Given the description of an element on the screen output the (x, y) to click on. 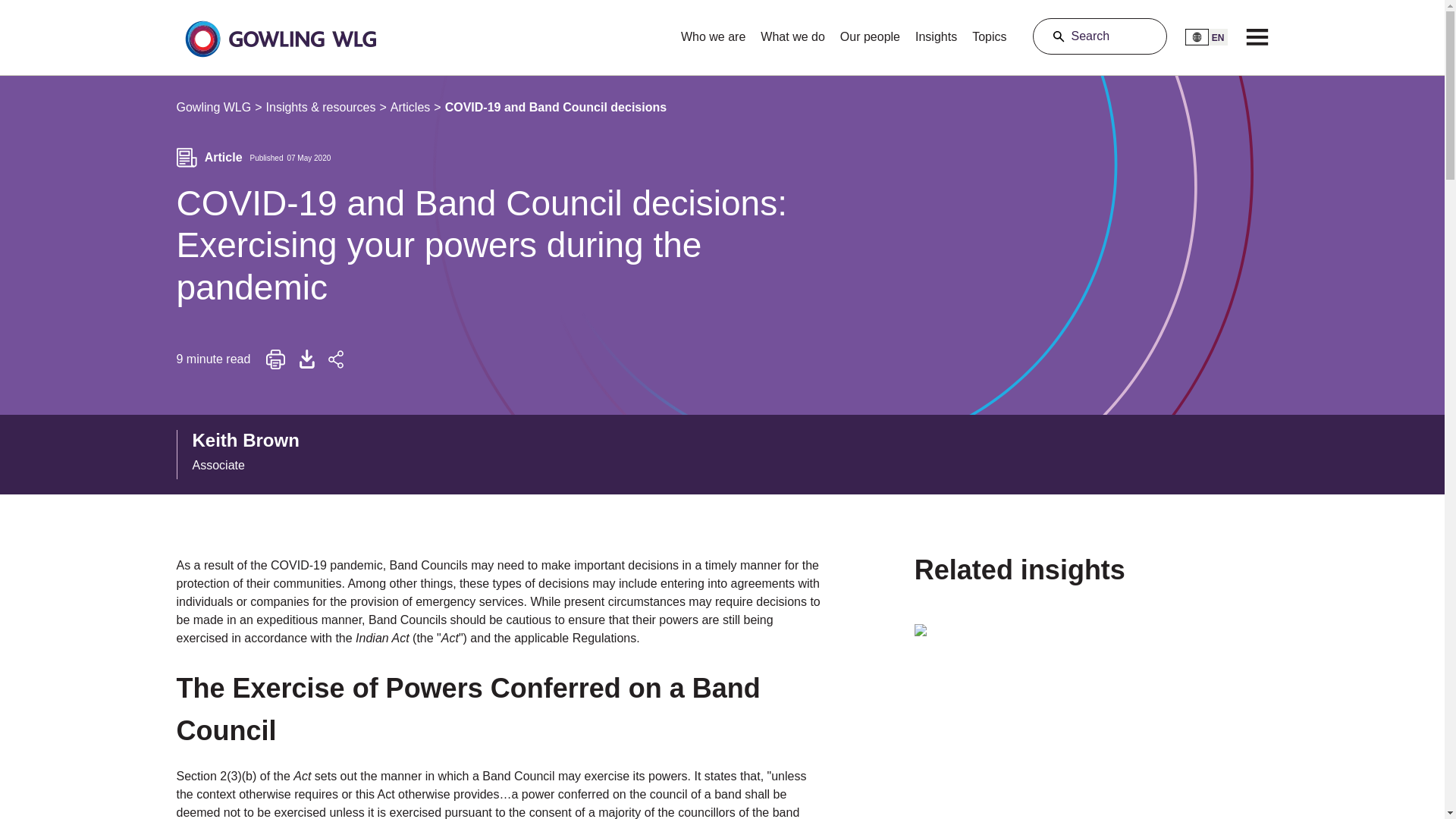
Topics (988, 31)
Gowling WLG (213, 107)
Search (1099, 36)
Articles (409, 107)
What we do (791, 31)
Insights (935, 31)
Print (275, 359)
EN (251, 454)
